Given the description of an element on the screen output the (x, y) to click on. 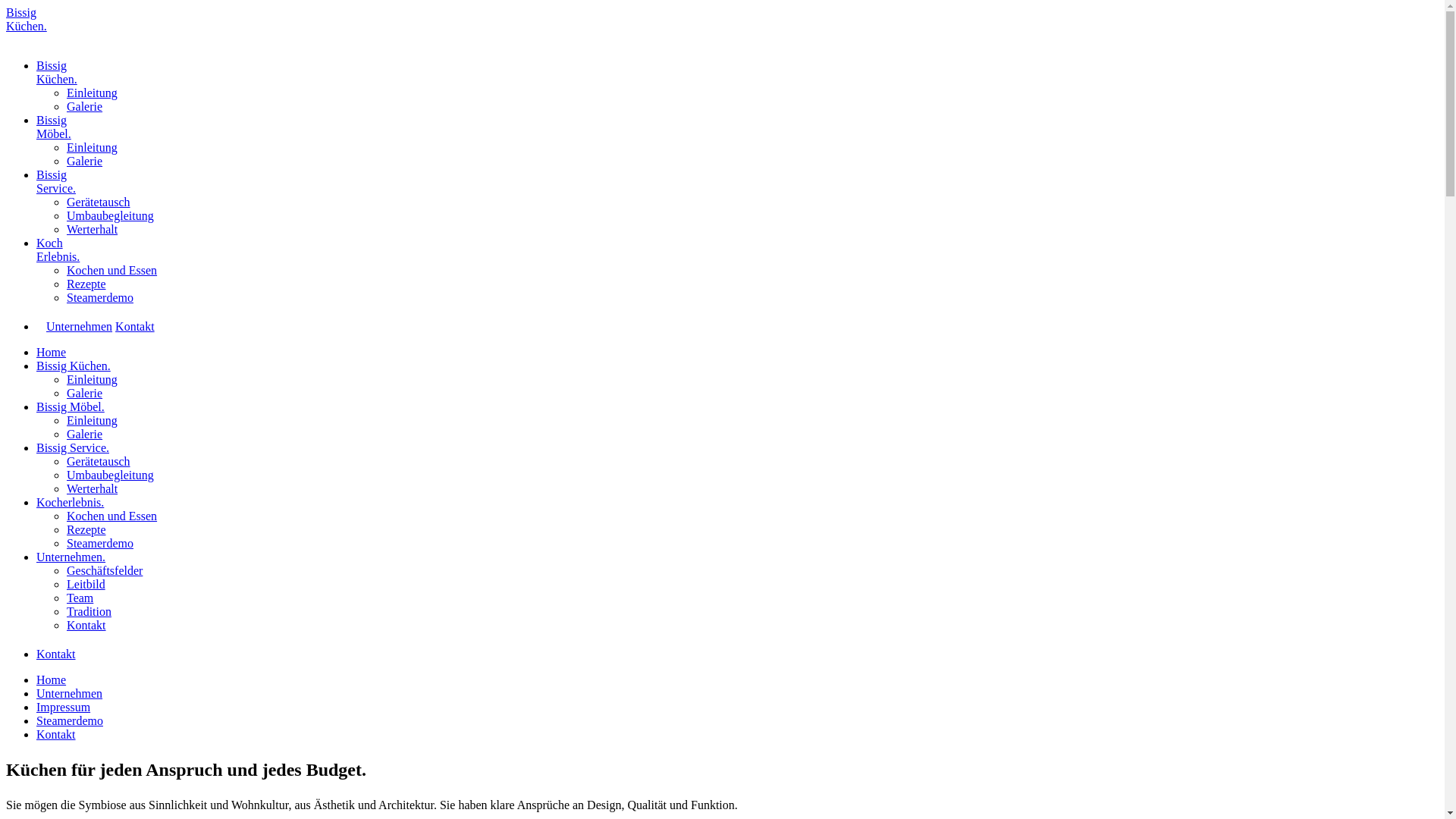
Kochen und Essen Element type: text (111, 269)
Unternehmen. Element type: text (70, 556)
Kontakt Element type: text (55, 734)
Galerie Element type: text (84, 106)
Einleitung Element type: text (91, 147)
Einleitung Element type: text (91, 420)
Umbaubegleitung Element type: text (109, 474)
Kocherlebnis. Element type: text (69, 501)
Koch
Erlebnis. Element type: text (57, 249)
Werterhalt Element type: text (91, 228)
Werterhalt Element type: text (91, 488)
Einleitung Element type: text (91, 379)
Bissig Service. Element type: text (72, 447)
Galerie Element type: text (84, 160)
Tradition Element type: text (88, 611)
Kontakt Element type: text (86, 624)
Home Element type: text (50, 351)
Steamerdemo Element type: text (99, 297)
Steamerdemo Element type: text (69, 720)
Unternehmen Element type: text (79, 326)
Galerie Element type: text (84, 392)
Kontakt Element type: text (134, 326)
Einleitung Element type: text (91, 92)
Bissig
Service. Element type: text (55, 181)
Impressum Element type: text (63, 706)
Team Element type: text (79, 597)
Kochen und Essen Element type: text (111, 515)
Leitbild Element type: text (85, 583)
Umbaubegleitung Element type: text (109, 215)
Unternehmen Element type: text (69, 693)
Kontakt Element type: text (55, 653)
Galerie Element type: text (84, 433)
Rezepte Element type: text (86, 529)
Steamerdemo Element type: text (99, 542)
Rezepte Element type: text (86, 283)
Home Element type: text (50, 679)
